Given the description of an element on the screen output the (x, y) to click on. 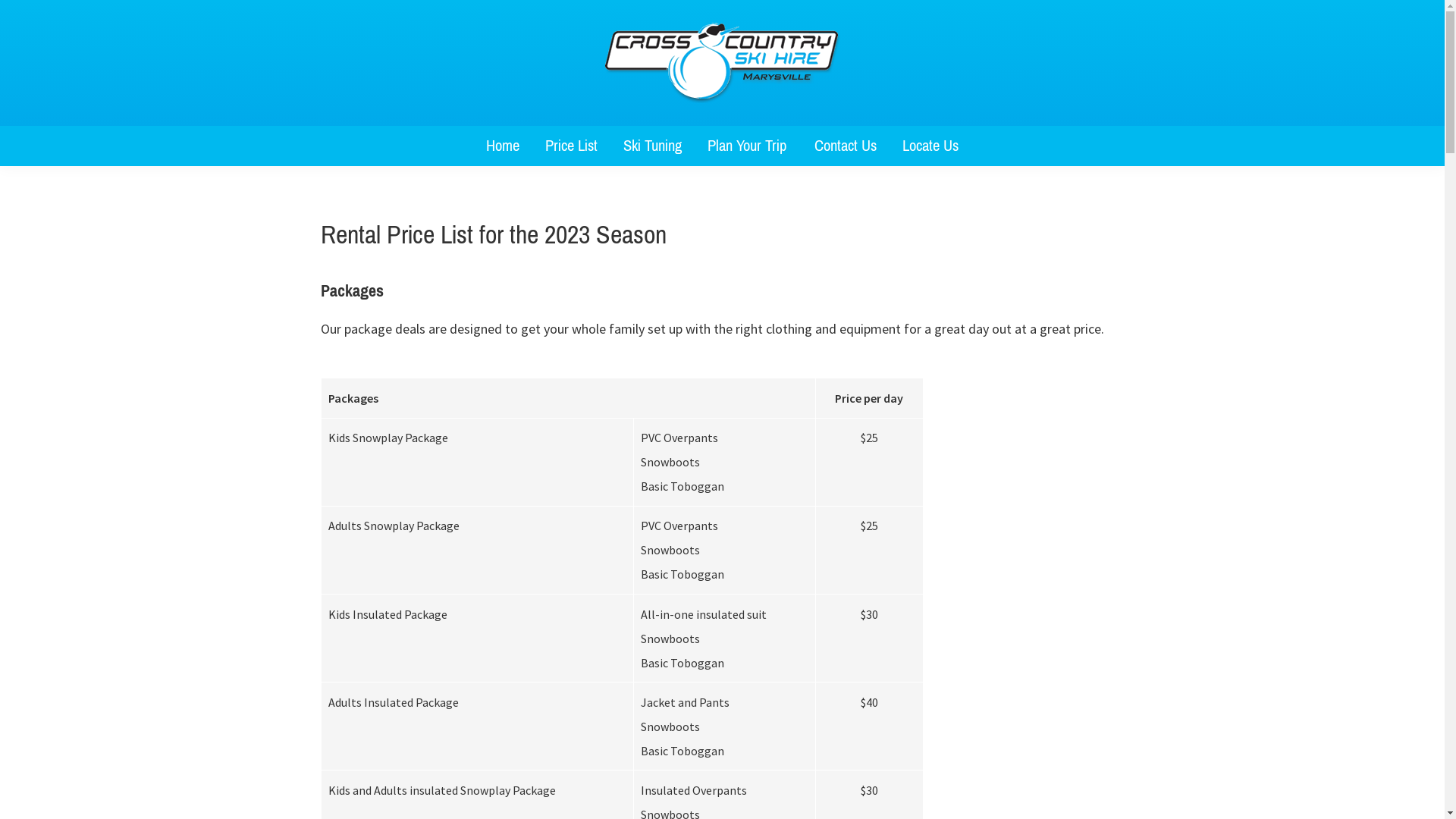
Skip to primary navigation Element type: text (0, 0)
Locate Us Element type: text (930, 145)
Price List Element type: text (570, 145)
Home Element type: text (502, 145)
Contact Us Element type: text (845, 145)
Plan Your Trip Element type: text (748, 145)
Ski Tuning Element type: text (652, 145)
